Given the description of an element on the screen output the (x, y) to click on. 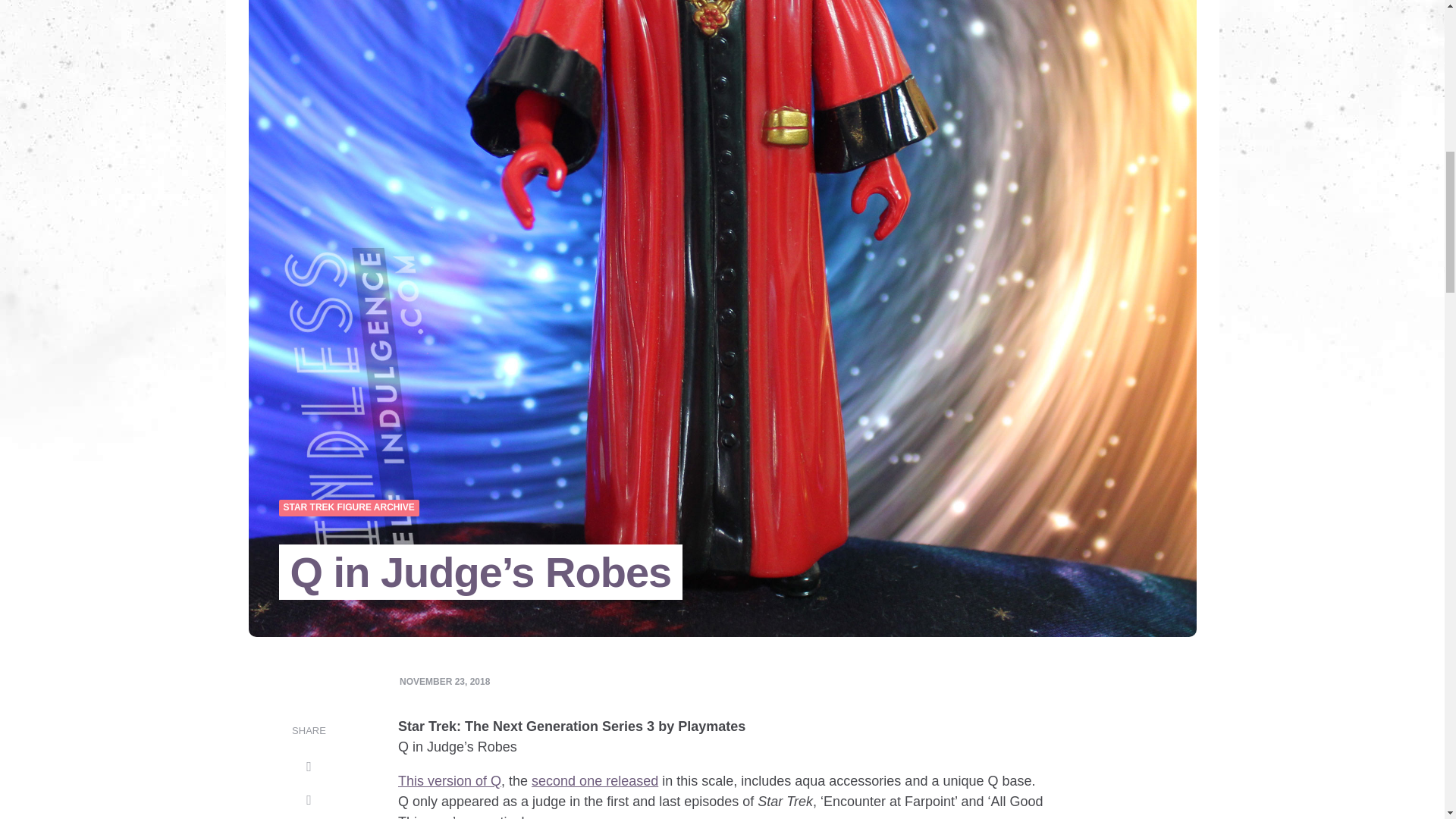
second one released (594, 780)
This version of Q (448, 780)
STAR TREK FIGURE ARCHIVE (348, 507)
